Given the description of an element on the screen output the (x, y) to click on. 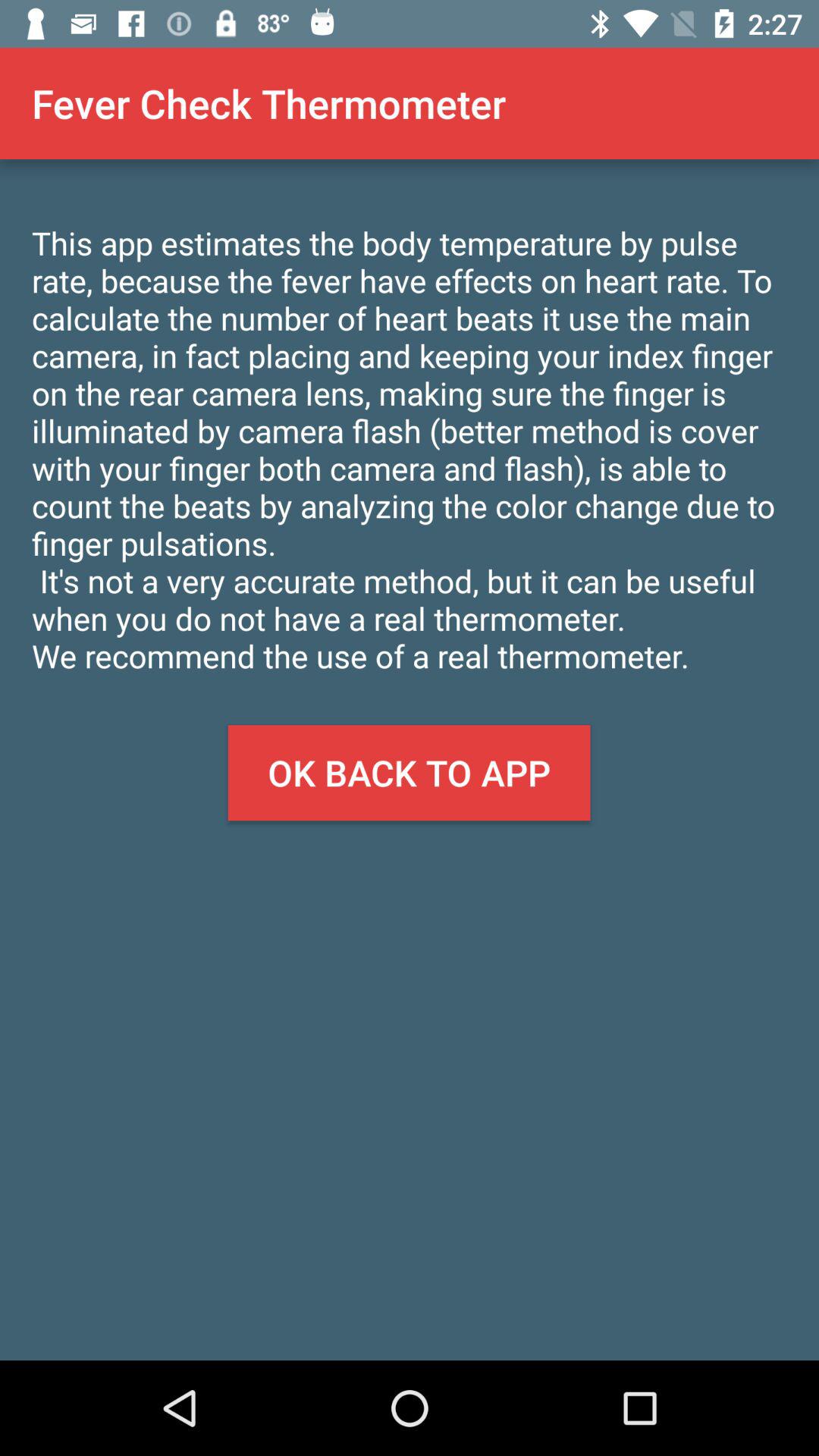
press the ok back to (409, 772)
